Given the description of an element on the screen output the (x, y) to click on. 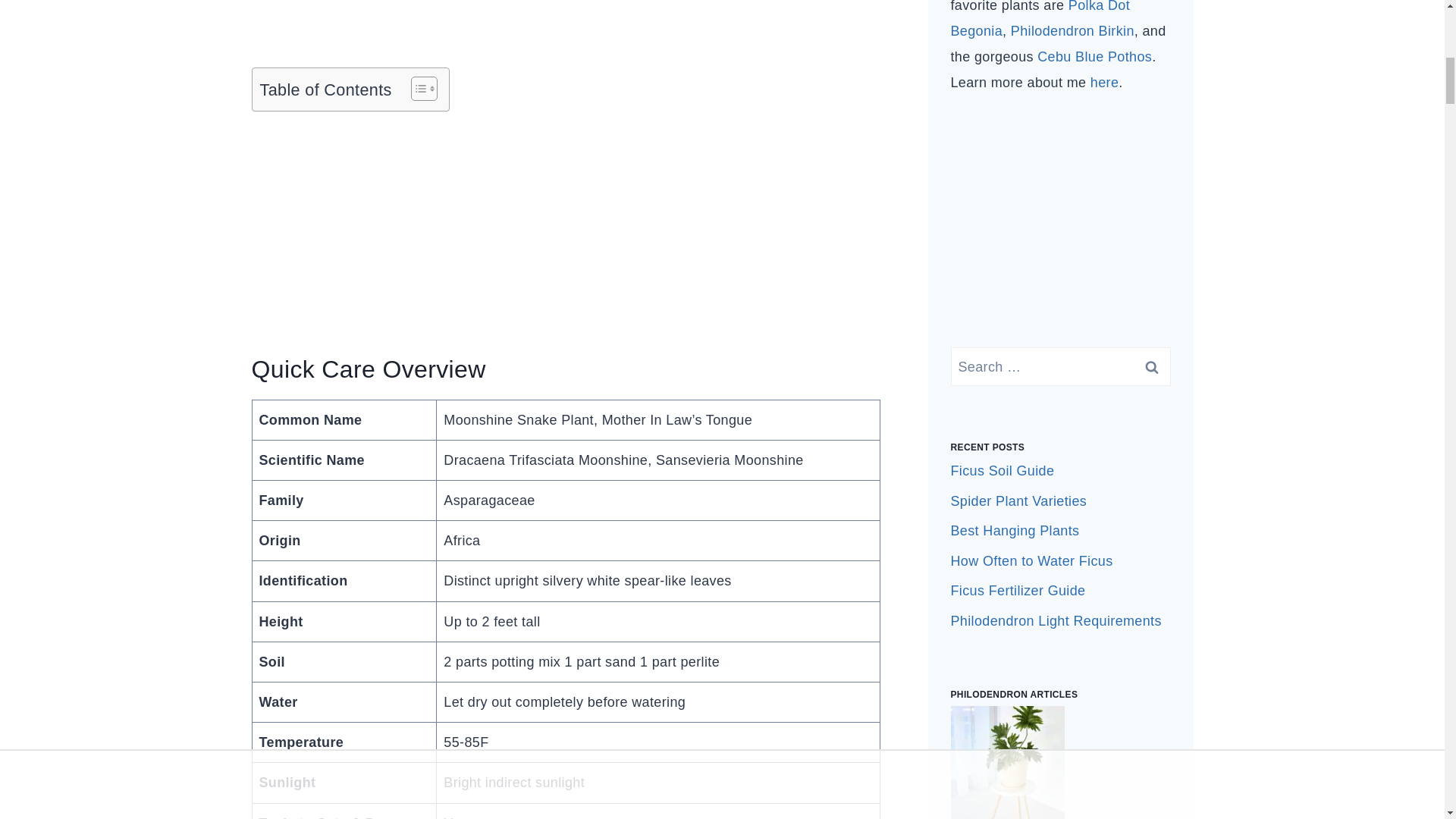
Search (1151, 366)
Search (1151, 366)
